Given the description of an element on the screen output the (x, y) to click on. 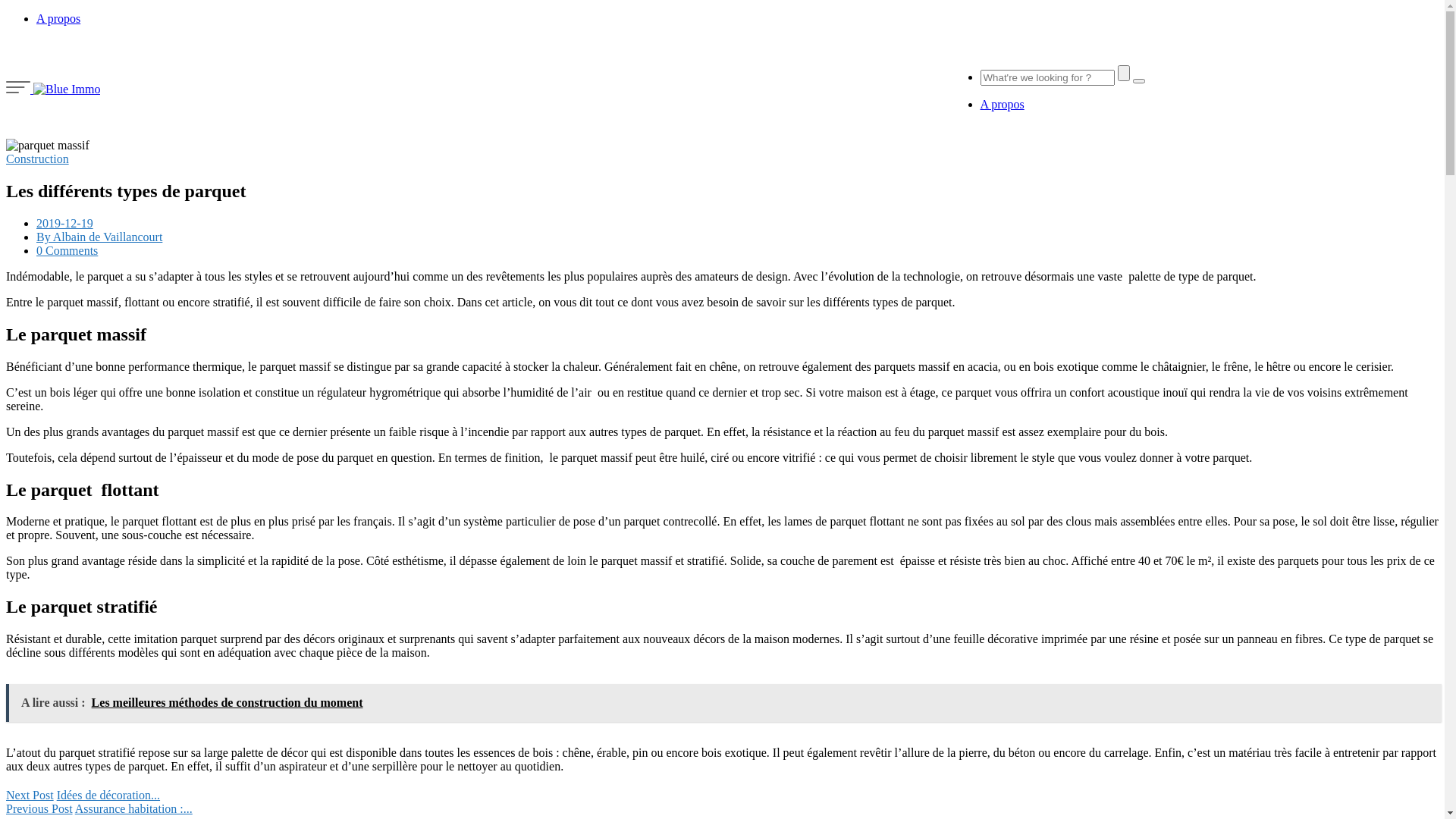
Assurance habitation :... Element type: text (133, 808)
Next Post Element type: text (29, 794)
Previous Post Element type: text (39, 808)
By Albain de Vaillancourt Element type: text (99, 236)
0 Comments Element type: text (66, 250)
2019-12-19 Element type: text (64, 222)
Skip to Content Element type: text (5, 37)
A propos Element type: text (58, 18)
Construction Element type: text (37, 158)
parquet massif Element type: hover (47, 145)
A propos Element type: text (1001, 103)
